Given the description of an element on the screen output the (x, y) to click on. 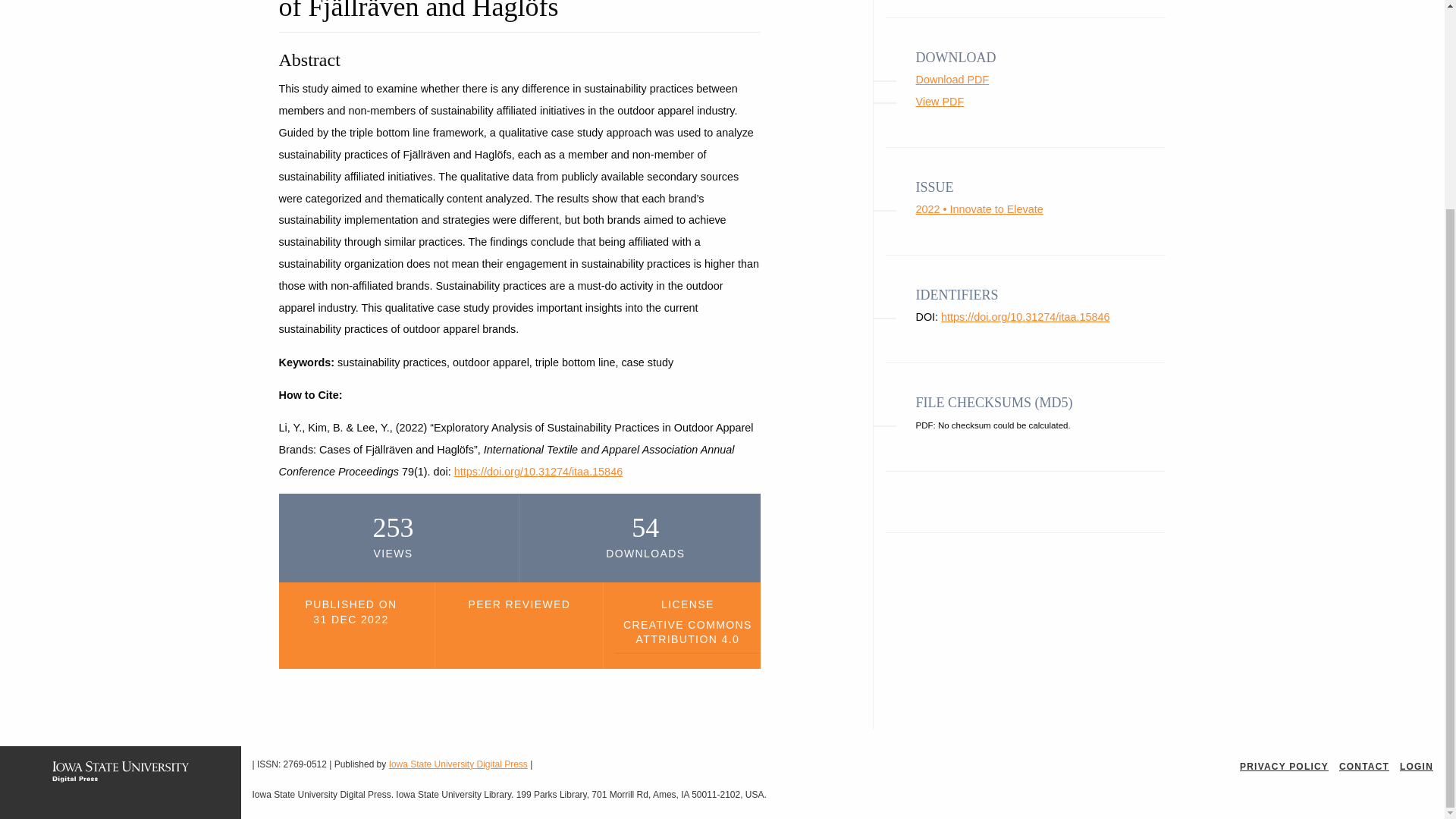
CREATIVE COMMONS ATTRIBUTION 4.0 (687, 635)
CREATIVE COMMONS ATTRIBUTION 4.0 (687, 635)
View PDF (939, 101)
Download PDF (952, 79)
